Given the description of an element on the screen output the (x, y) to click on. 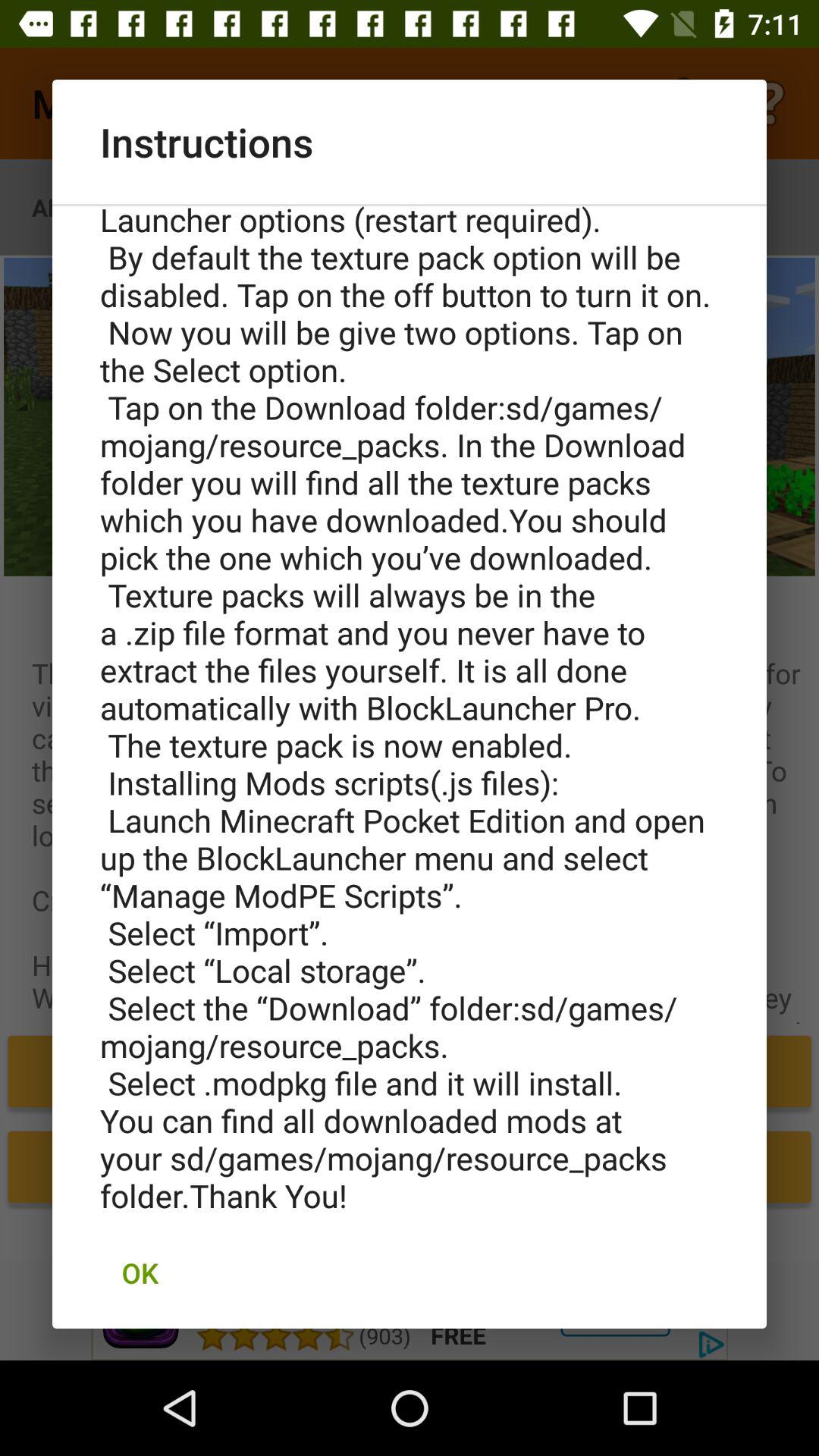
turn off ok (139, 1272)
